Given the description of an element on the screen output the (x, y) to click on. 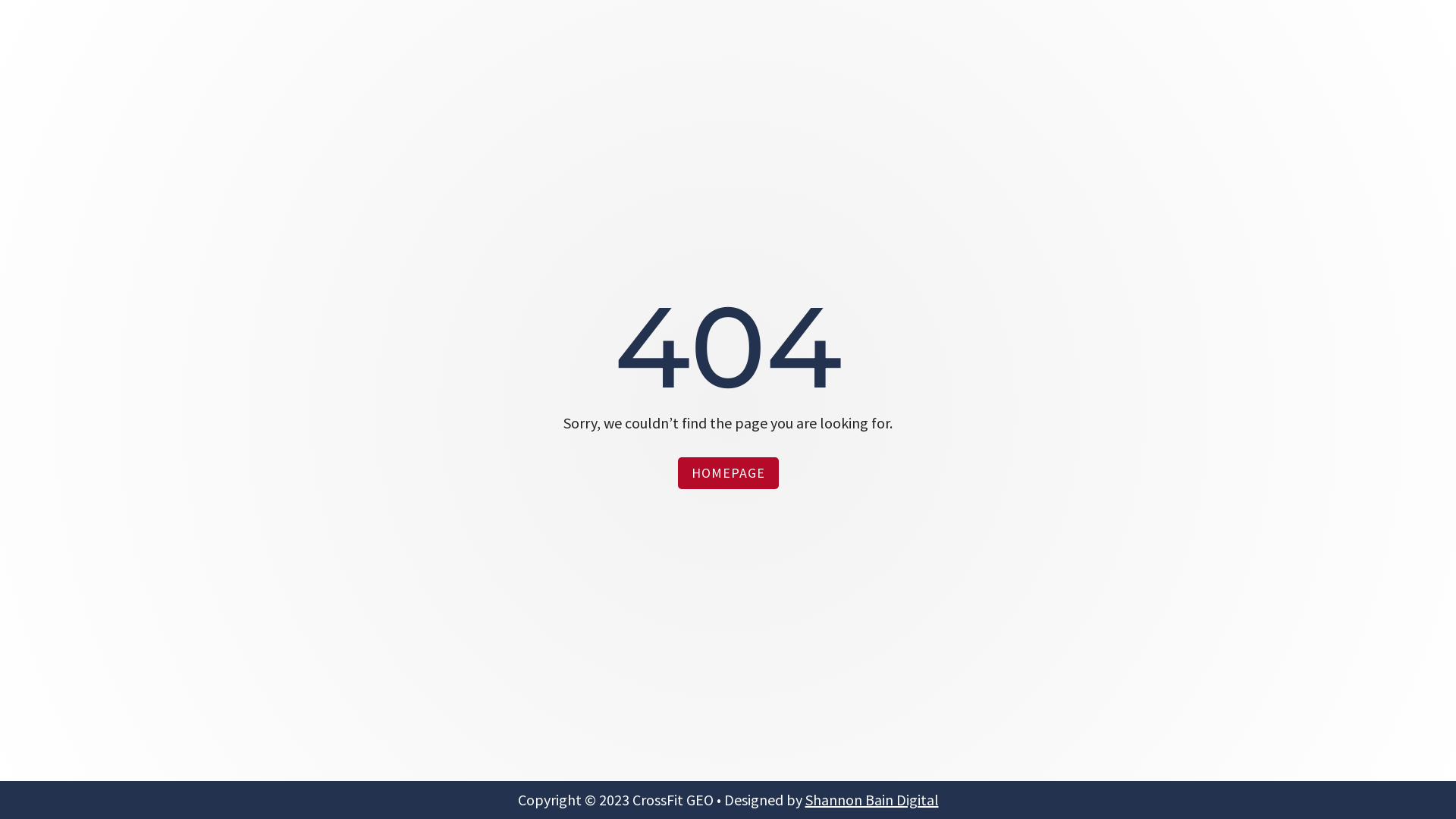
Shannon Bain Digital Element type: text (871, 799)
HOMEPAGE Element type: text (727, 472)
